Given the description of an element on the screen output the (x, y) to click on. 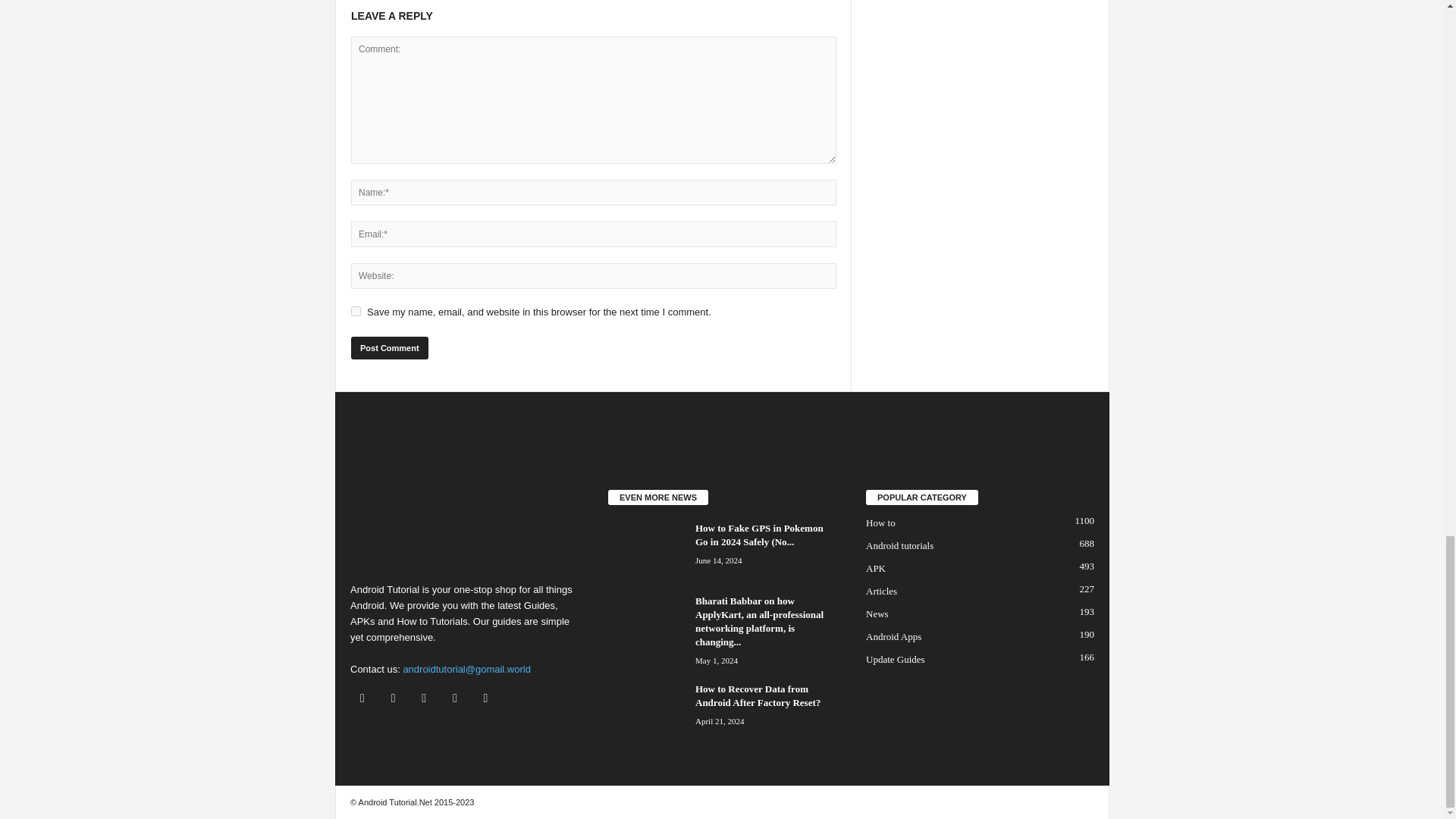
Post Comment (389, 347)
yes (355, 311)
